Given the description of an element on the screen output the (x, y) to click on. 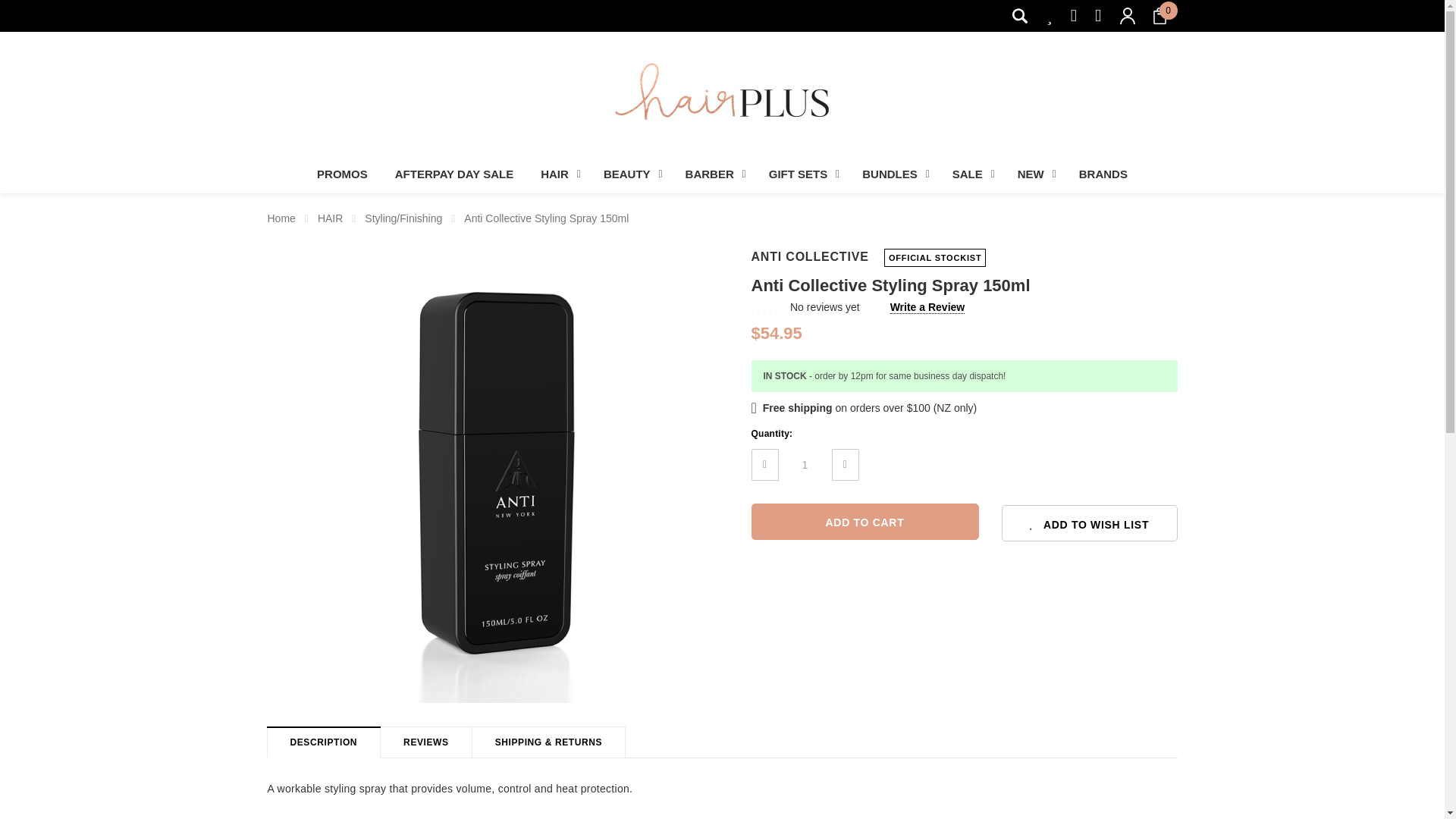
Login (1070, 182)
Search (1019, 15)
1 (804, 464)
HAIR (558, 174)
PROMOS (341, 174)
Hair Plus (721, 98)
Search Box Toggle (1019, 15)
Add to Cart (864, 521)
AFTERPAY DAY SALE (454, 174)
